Given the description of an element on the screen output the (x, y) to click on. 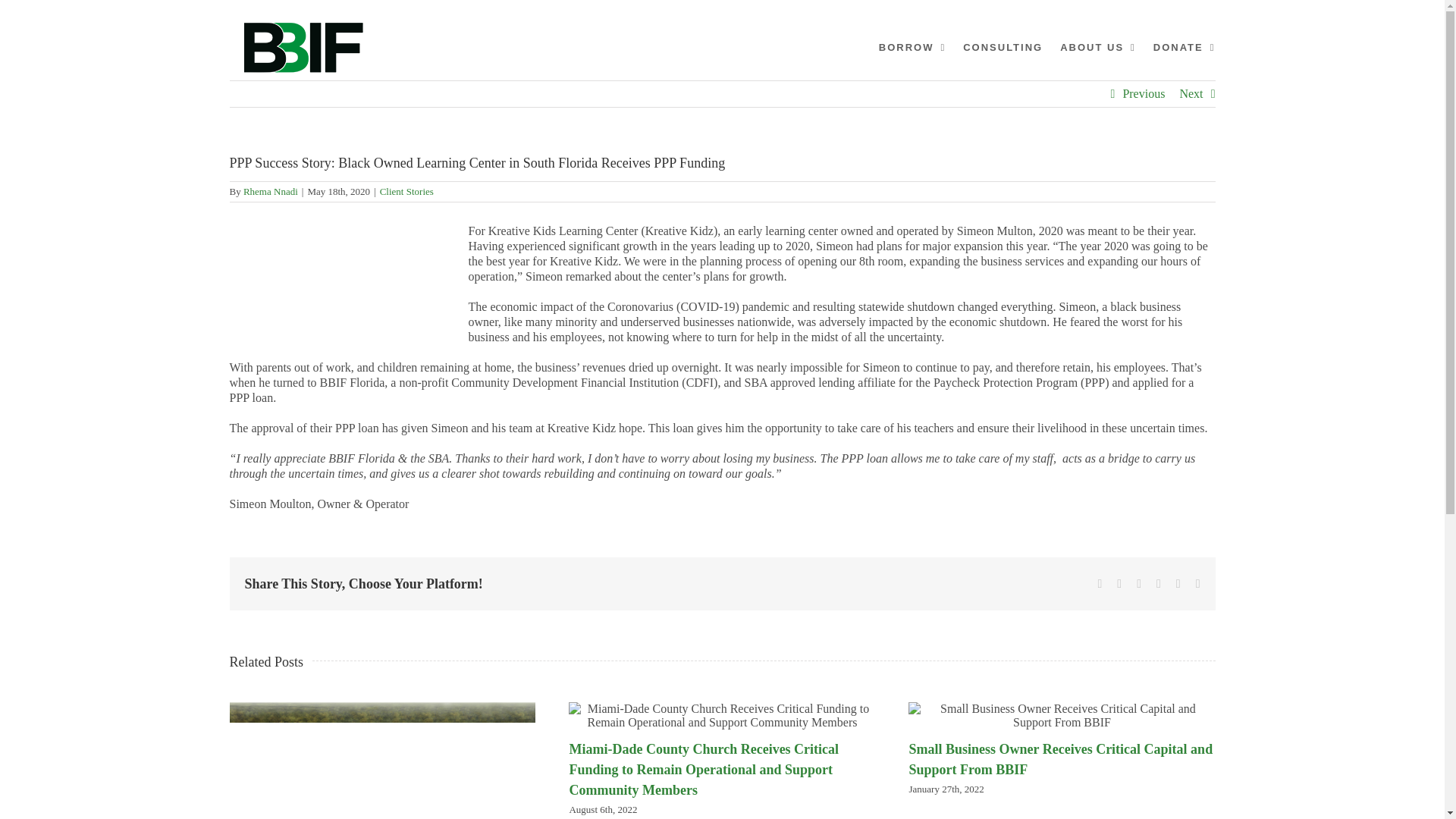
DONATE (1184, 46)
CONSULTING (1002, 46)
Previous (1143, 94)
Rhema Nnadi (270, 191)
ABOUT US (1097, 46)
BORROW (911, 46)
Next (1190, 94)
Client Stories (406, 191)
